Given the description of an element on the screen output the (x, y) to click on. 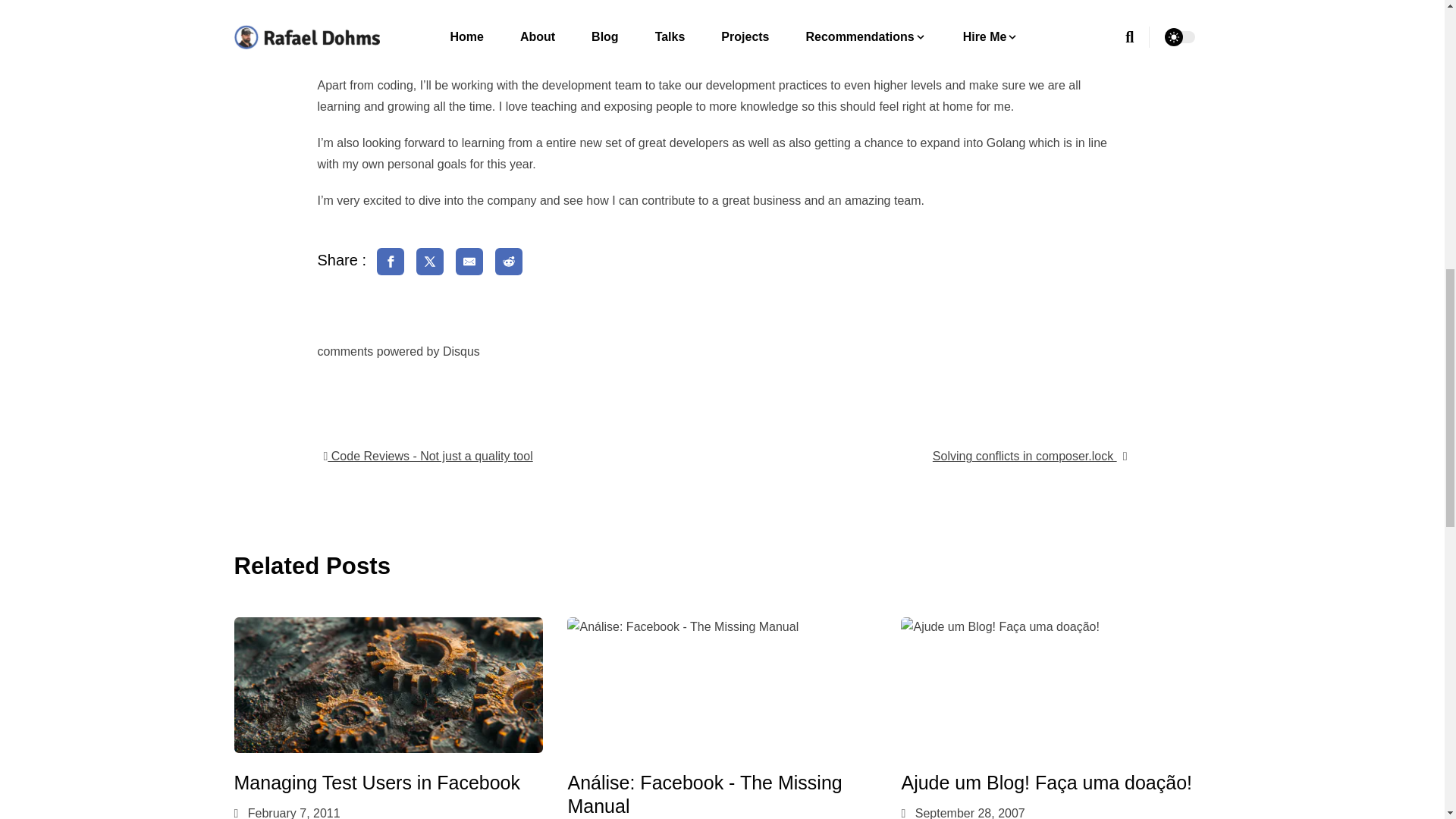
Code Reviews - Not just a quality tool (424, 455)
Solving conflicts in composer.lock (1029, 455)
Managing Test Users in Facebook (375, 782)
comments powered by Disqus (398, 350)
